Given the description of an element on the screen output the (x, y) to click on. 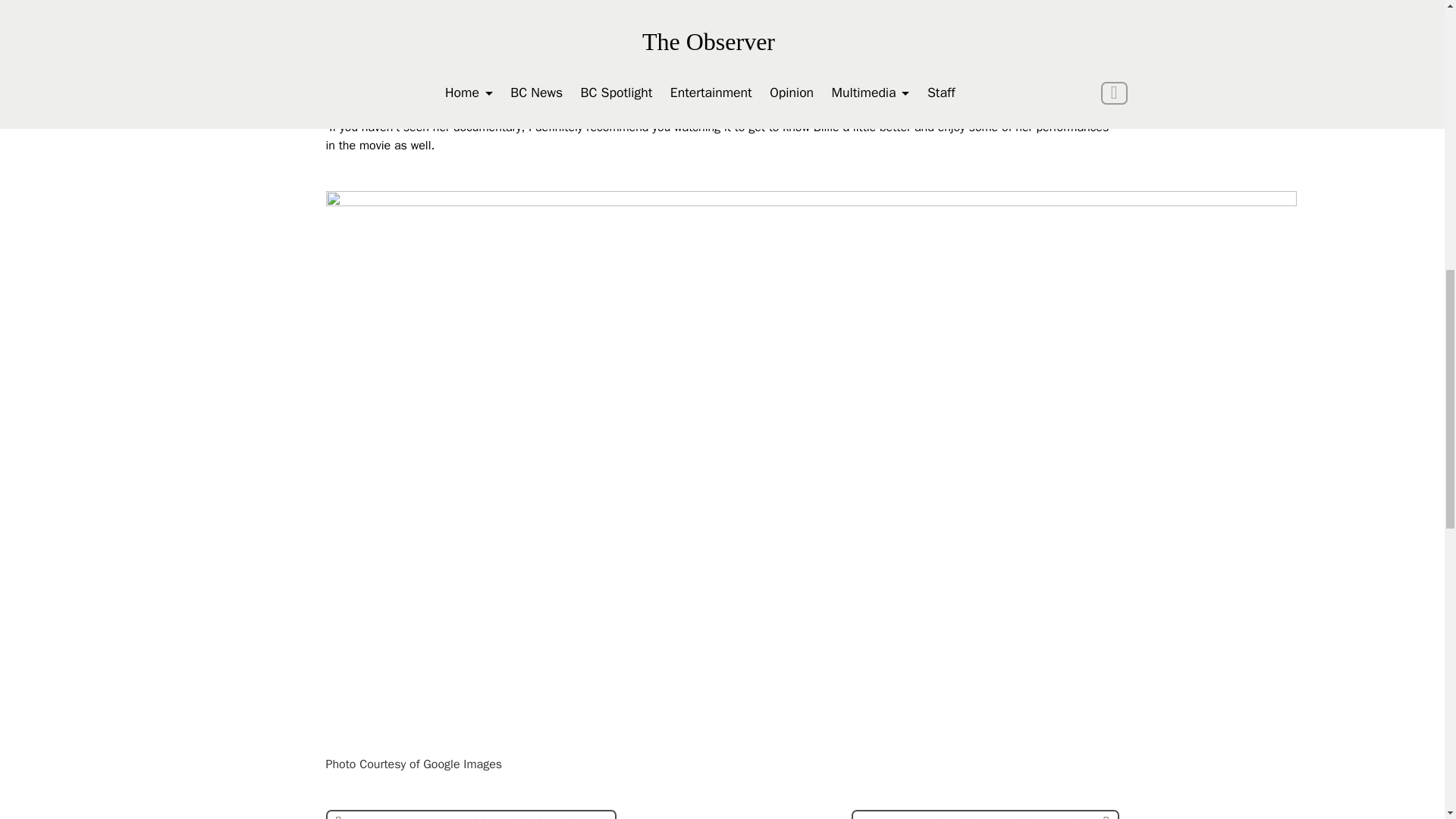
KUWTK FINAL SEASON AIRING ON MARCH 18 (985, 814)
BRAIN INJURY AWARENESS DAY ON CAPITOL HILL (471, 814)
